Given the description of an element on the screen output the (x, y) to click on. 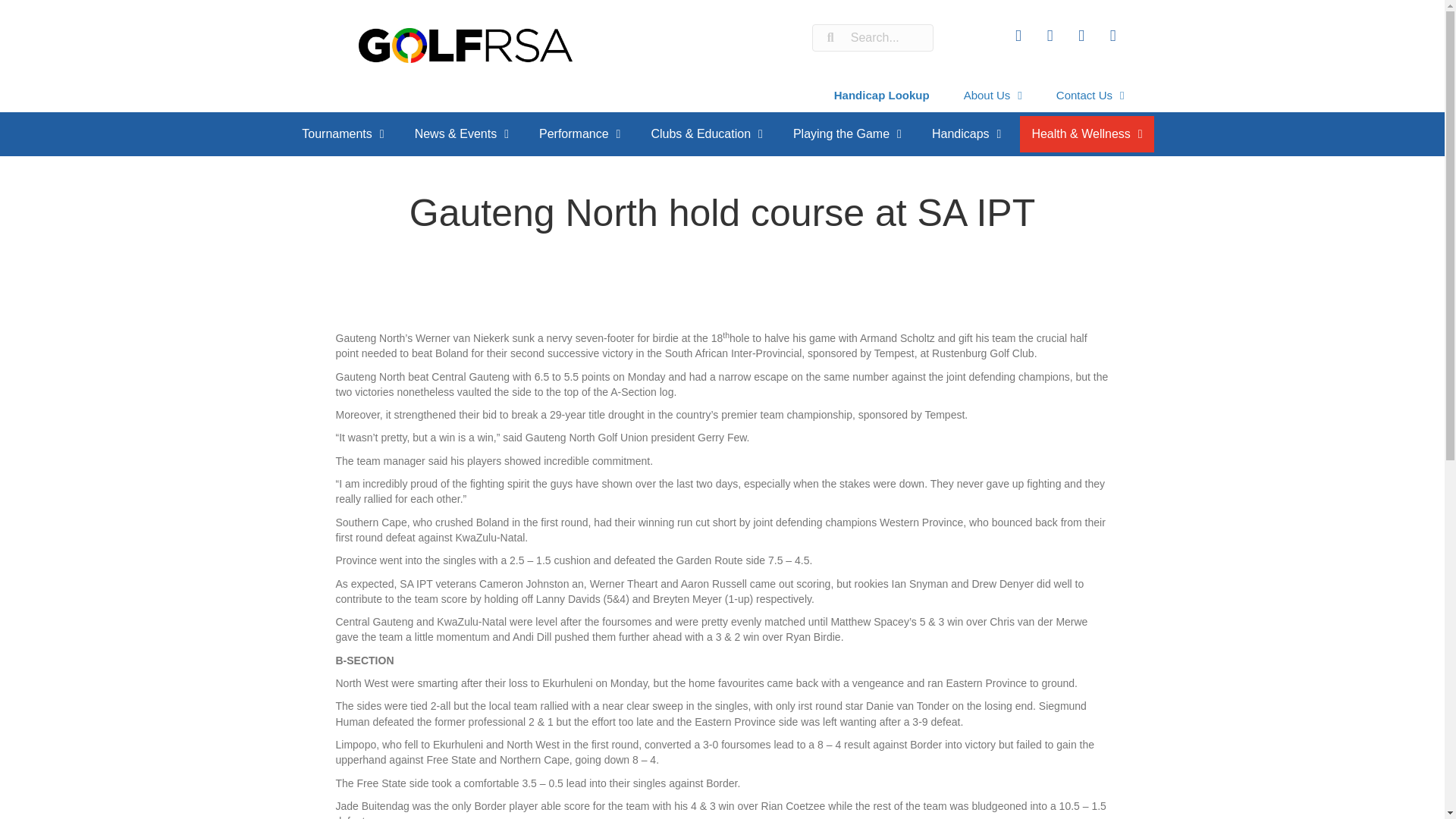
Tournaments (341, 134)
Contact Us (1090, 94)
1 GOLF RSA primary logo on white (465, 45)
About Us (992, 94)
Handicap Lookup (882, 94)
